Given the description of an element on the screen output the (x, y) to click on. 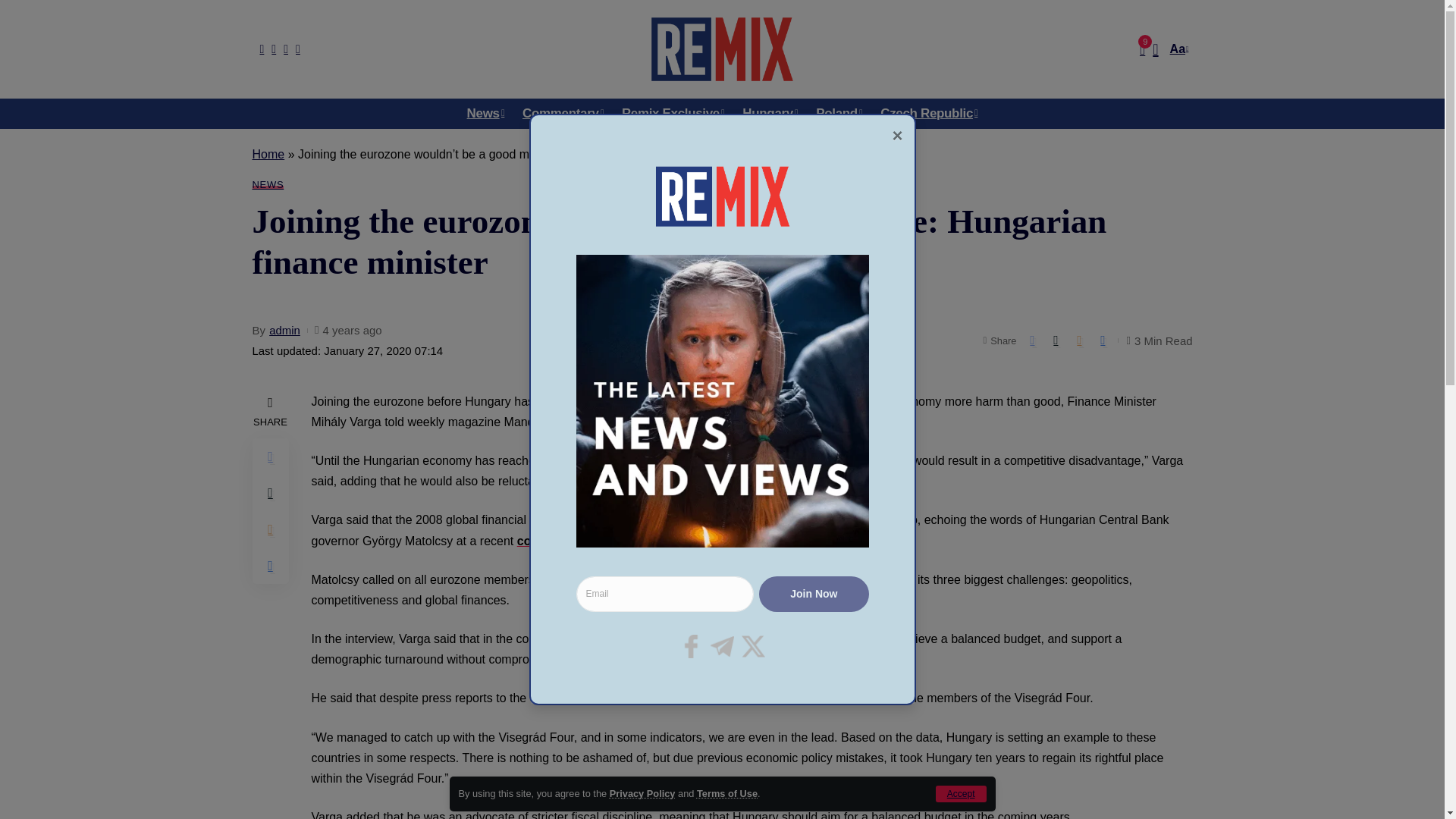
Terms of Use (727, 793)
Accept (961, 793)
Privacy Policy (642, 793)
Remix News (721, 48)
